Given the description of an element on the screen output the (x, y) to click on. 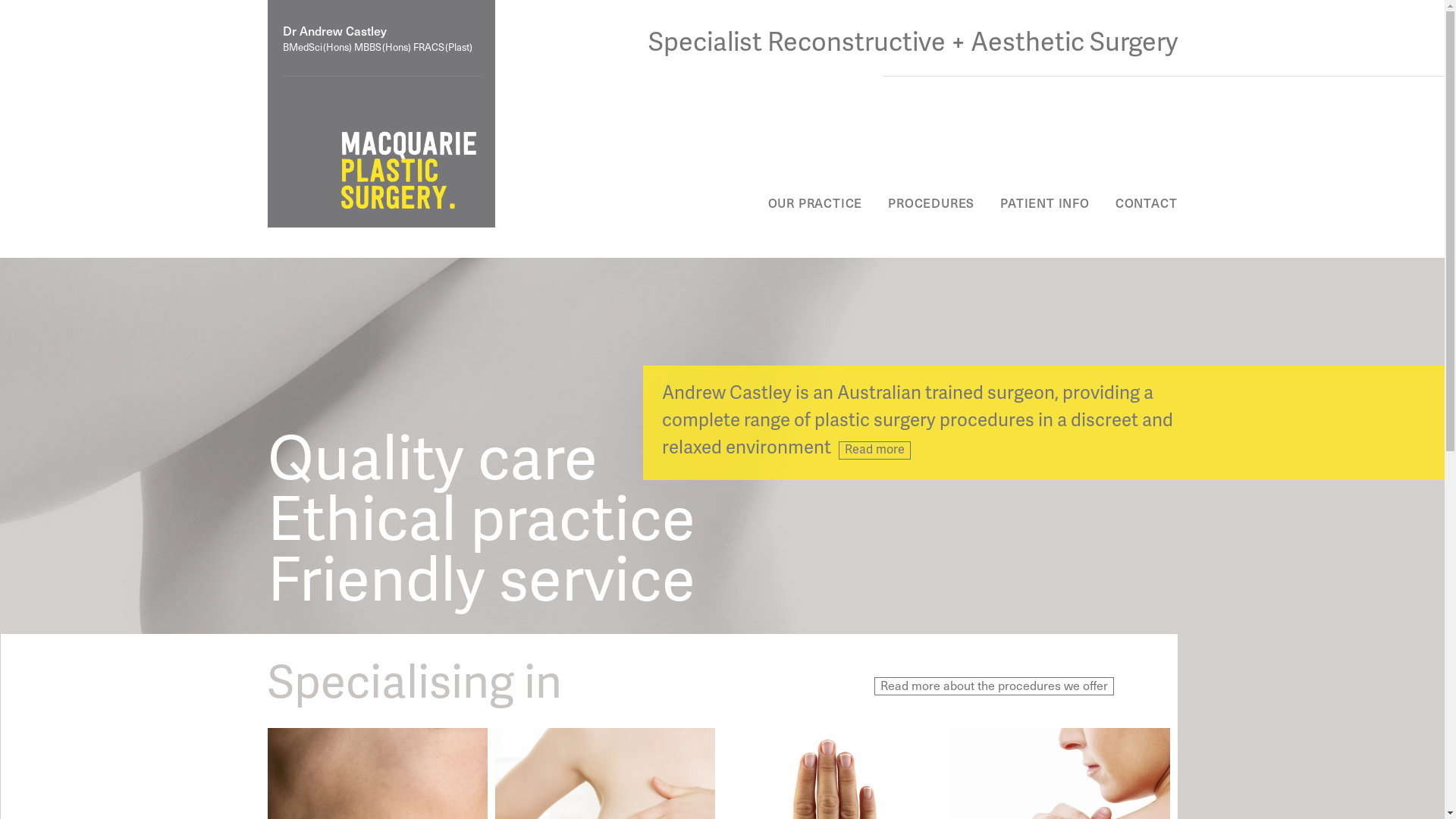
Specialist Reconstructive + Aesthetic Surgery Element type: text (911, 41)
CONTACT Element type: text (1146, 202)
PATIENT INFO Element type: text (1044, 202)
PROCEDURES Element type: text (931, 202)
Read more about the procedures we offer Element type: text (993, 686)
OUR PRACTICE Element type: text (815, 202)
Read more Element type: text (874, 450)
